Given the description of an element on the screen output the (x, y) to click on. 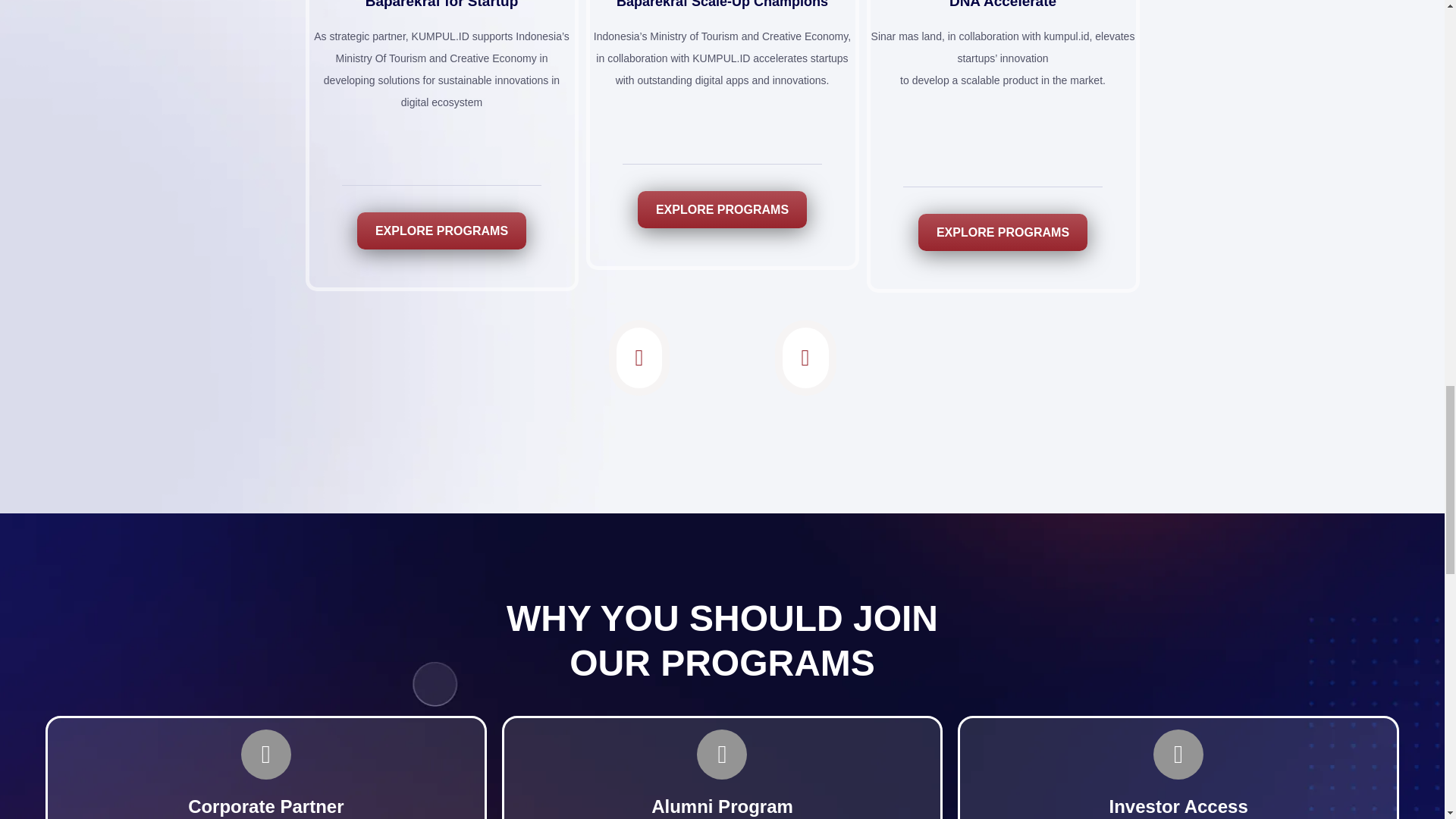
EXPLORE PROGRAMS (721, 209)
EXPLORE PROGRAMS (1002, 231)
EXPLORE PROGRAMS (440, 230)
